Given the description of an element on the screen output the (x, y) to click on. 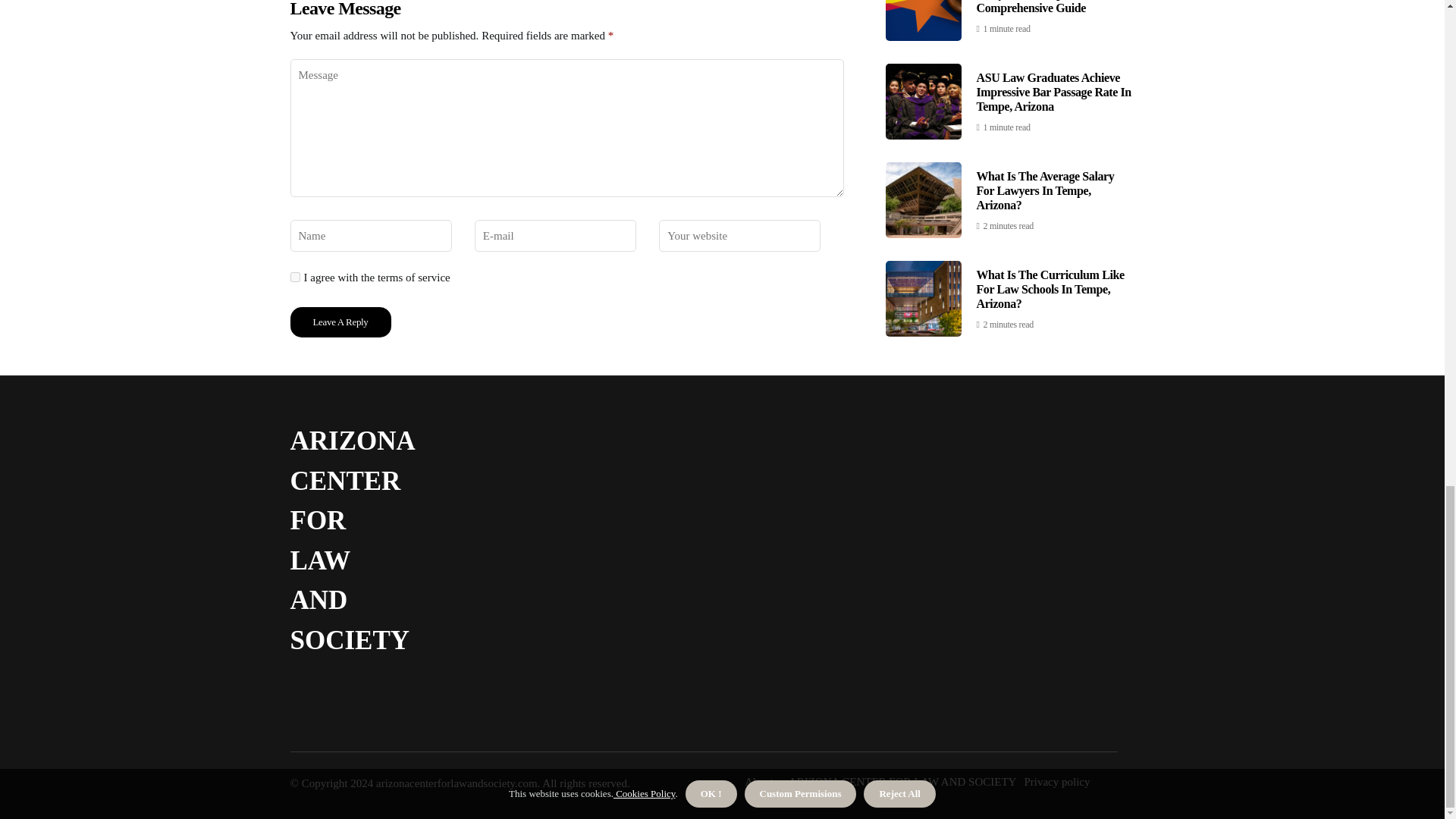
yes (294, 276)
Leave a Reply (339, 322)
Leave a Reply (339, 322)
